Given the description of an element on the screen output the (x, y) to click on. 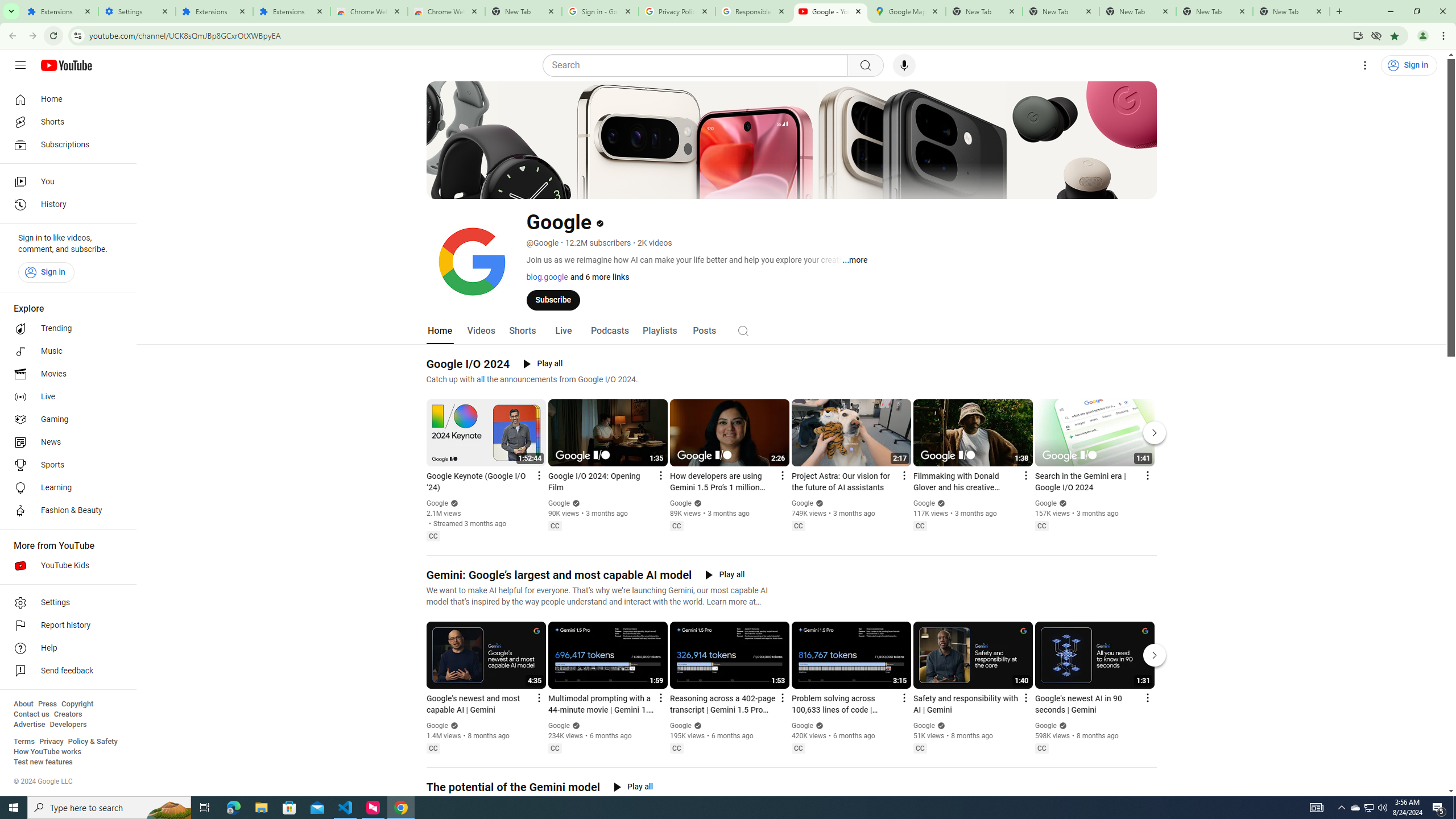
Fashion & Beauty (64, 510)
Press (46, 703)
New Tab (1291, 11)
Videos (481, 330)
Learning (64, 487)
blog.google (546, 276)
How YouTube works (47, 751)
